Given the description of an element on the screen output the (x, y) to click on. 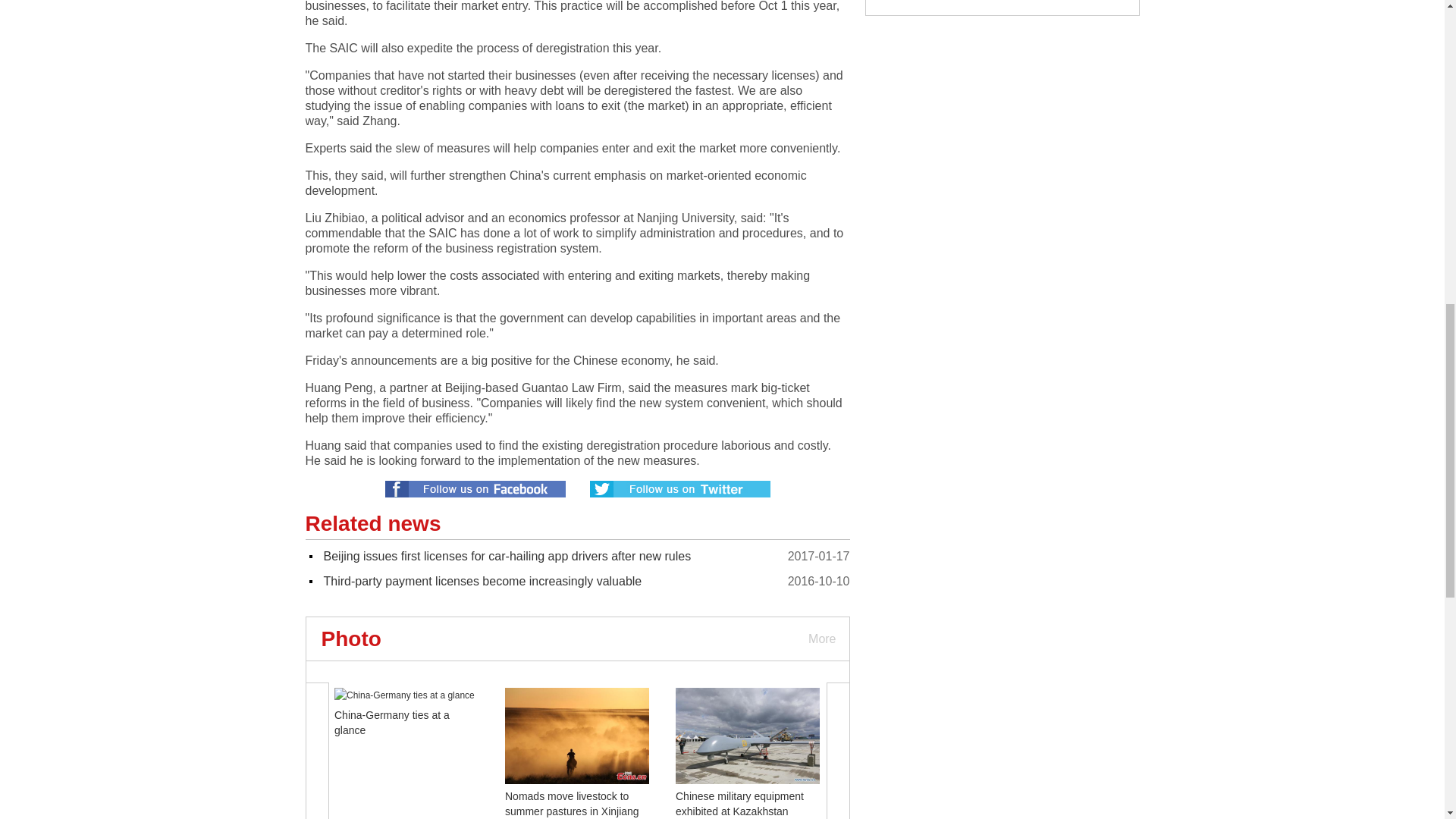
China-Germany ties at a glance (391, 722)
Third-party payment licenses become increasingly valuable (482, 581)
Nomads move livestock to summer pastures in Xinjiang (572, 803)
